Given the description of an element on the screen output the (x, y) to click on. 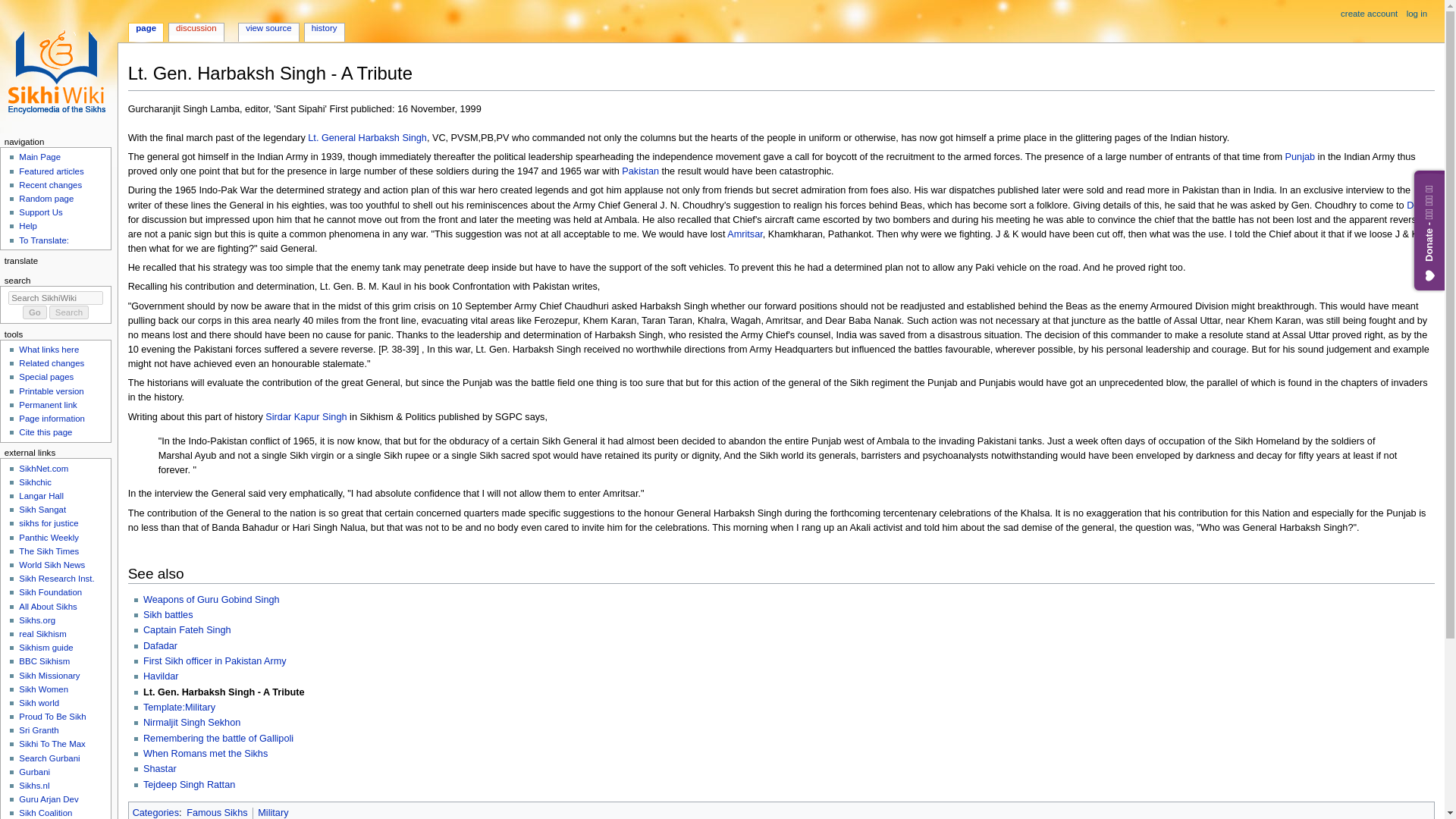
Delhi (1417, 204)
Tejdeep Singh Rattan (188, 784)
Punjab (1300, 156)
Remembering the battle of Gallipoli (218, 738)
Punjab (1300, 156)
Military (272, 812)
When Romans met the Sikhs (204, 753)
Sirdar Kapur Singh (305, 416)
Lt. Gen. Harbaksh Singh - A Tribute (223, 692)
